Given the description of an element on the screen output the (x, y) to click on. 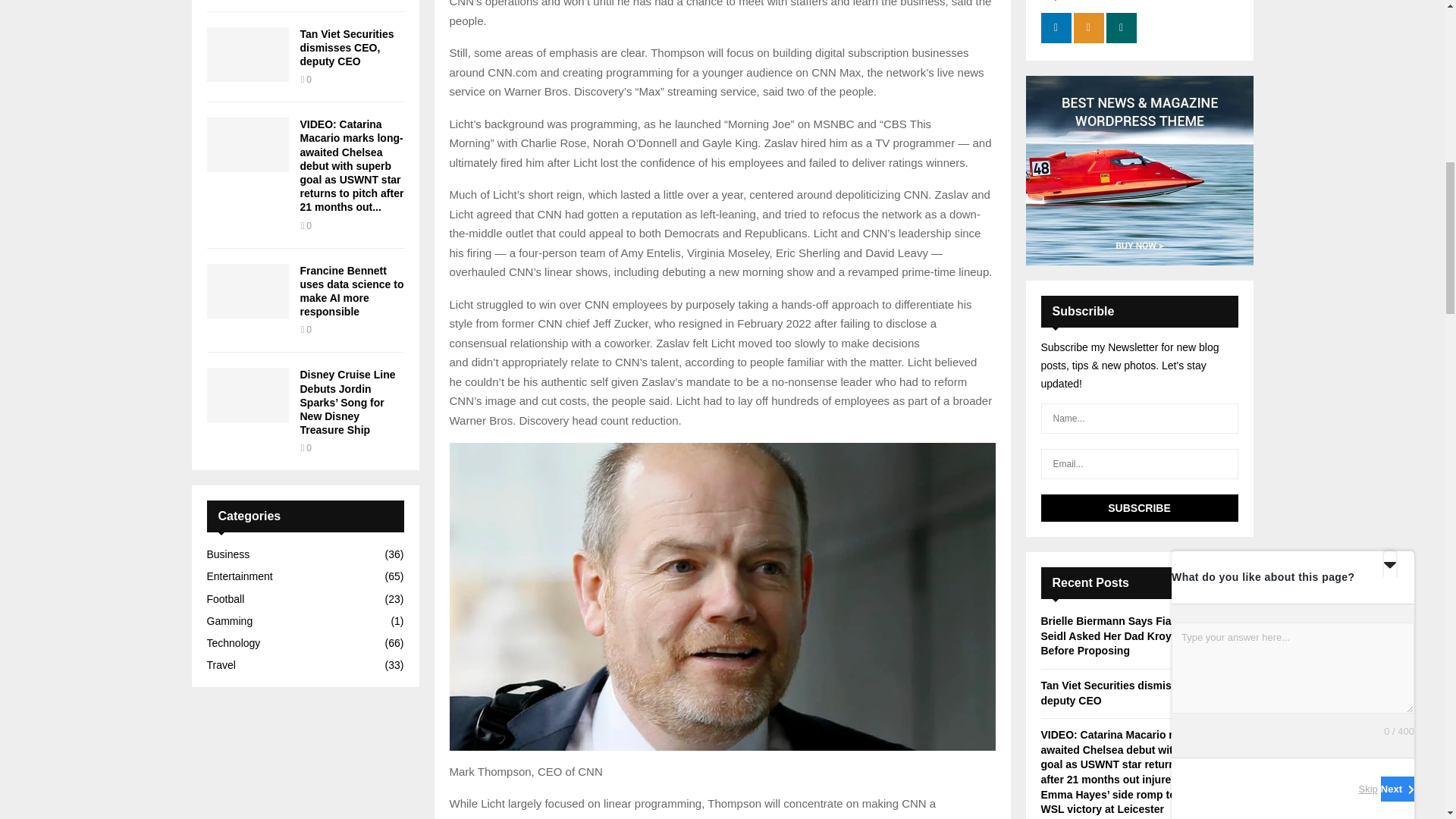
Subscribe (1139, 507)
